Given the description of an element on the screen output the (x, y) to click on. 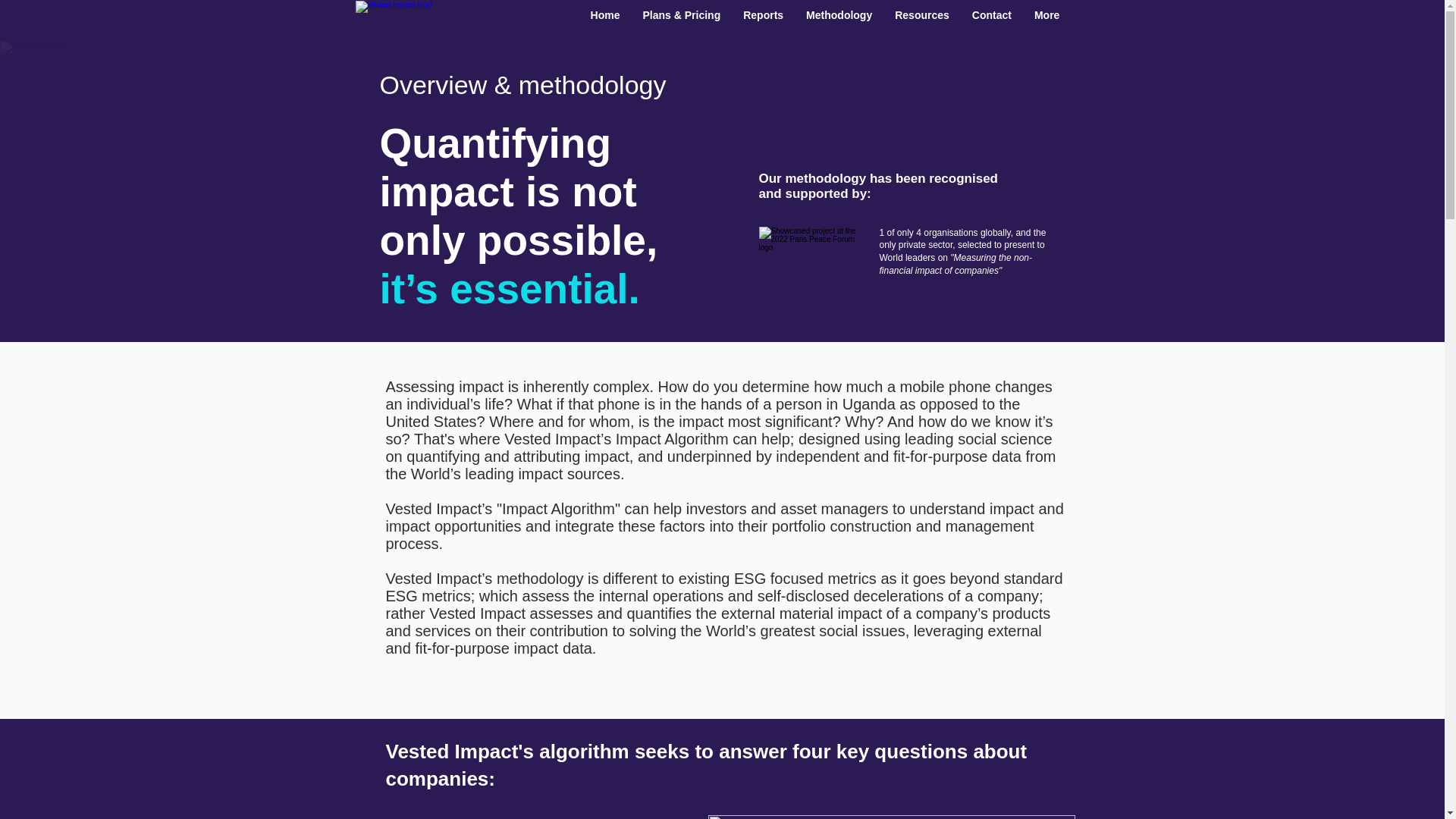
Contact (991, 21)
Reports (763, 21)
Methodology (838, 21)
Resources (921, 21)
Home (605, 21)
